Given the description of an element on the screen output the (x, y) to click on. 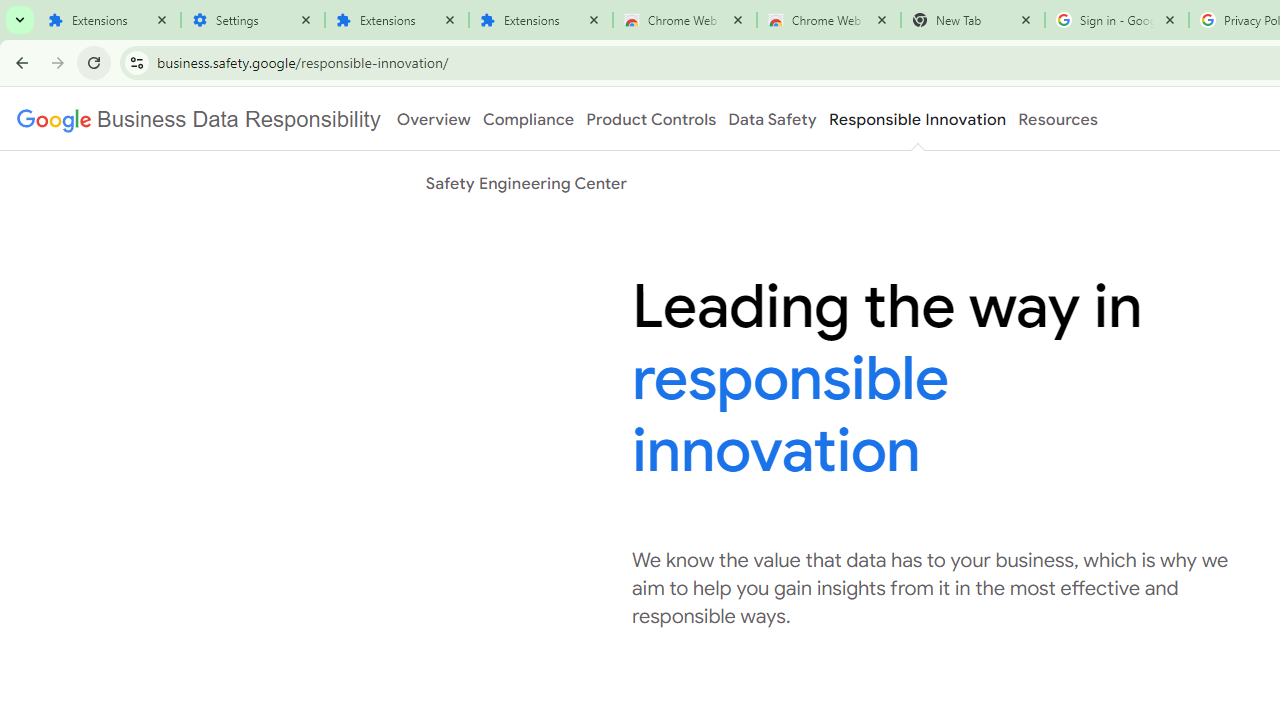
Reload (93, 62)
Overview (433, 119)
View site information (136, 62)
Data Safety (772, 119)
Compliance (528, 119)
Resources (1058, 119)
Safety Engineering Center (526, 183)
Responsible Innovation (916, 119)
Extensions (396, 20)
Sign in - Google Accounts (1116, 20)
